Given the description of an element on the screen output the (x, y) to click on. 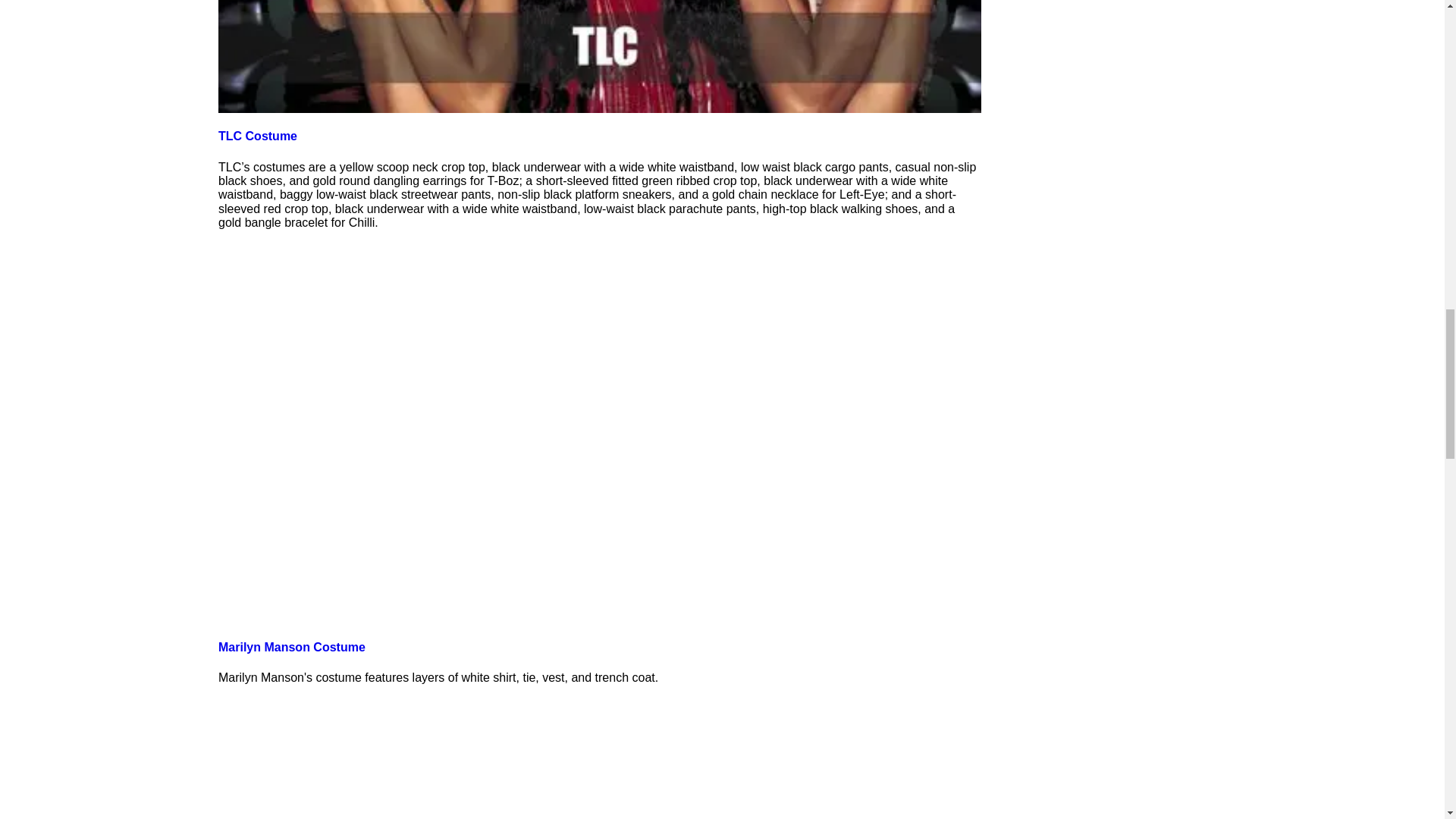
Marilyn Manson Costume (291, 646)
TLC Costume (257, 135)
